Given the description of an element on the screen output the (x, y) to click on. 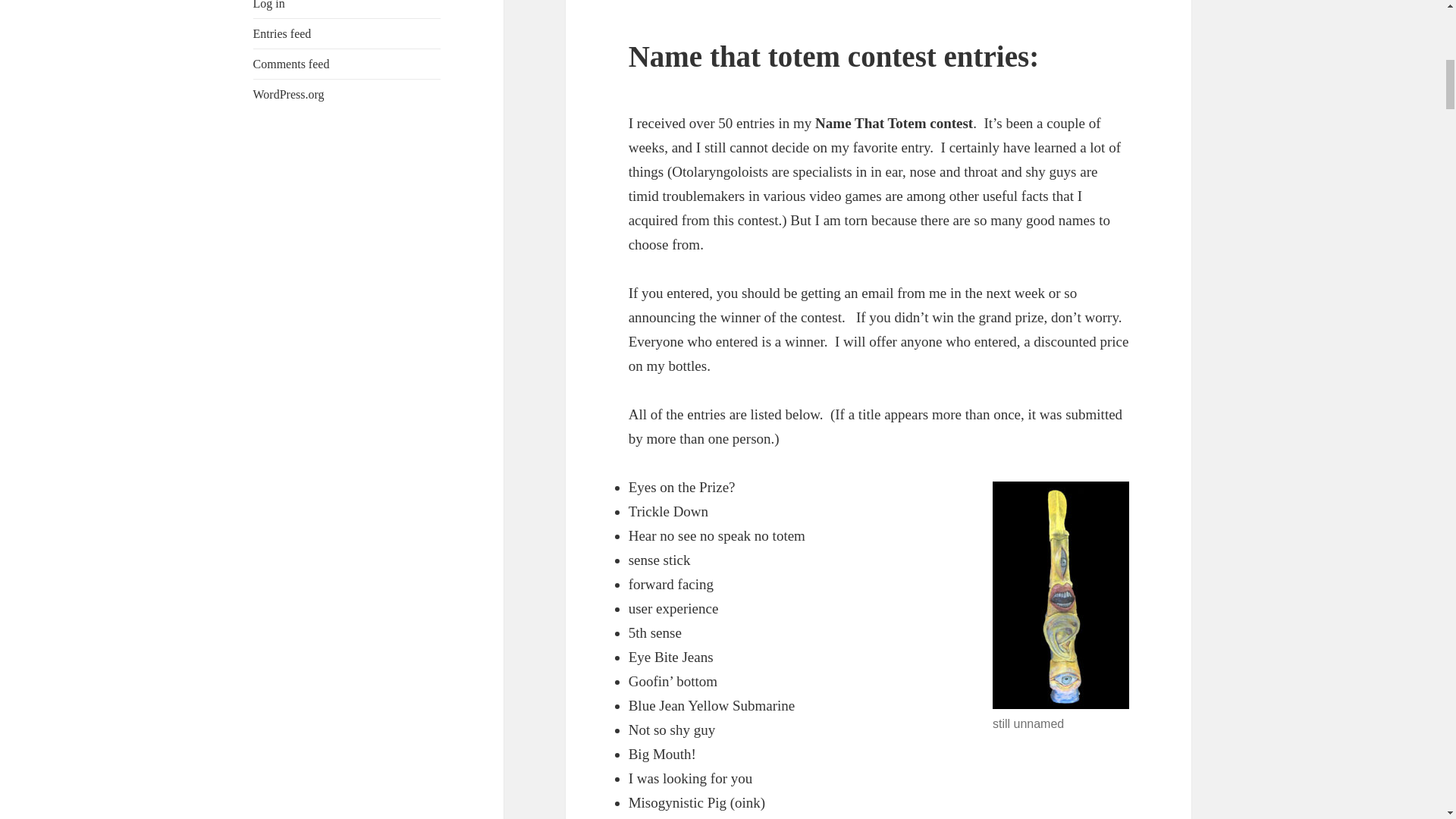
Log in (269, 4)
Name that totem contest entries: (833, 56)
WordPress.org (288, 93)
Entries feed (282, 33)
Comments feed (291, 63)
